Given the description of an element on the screen output the (x, y) to click on. 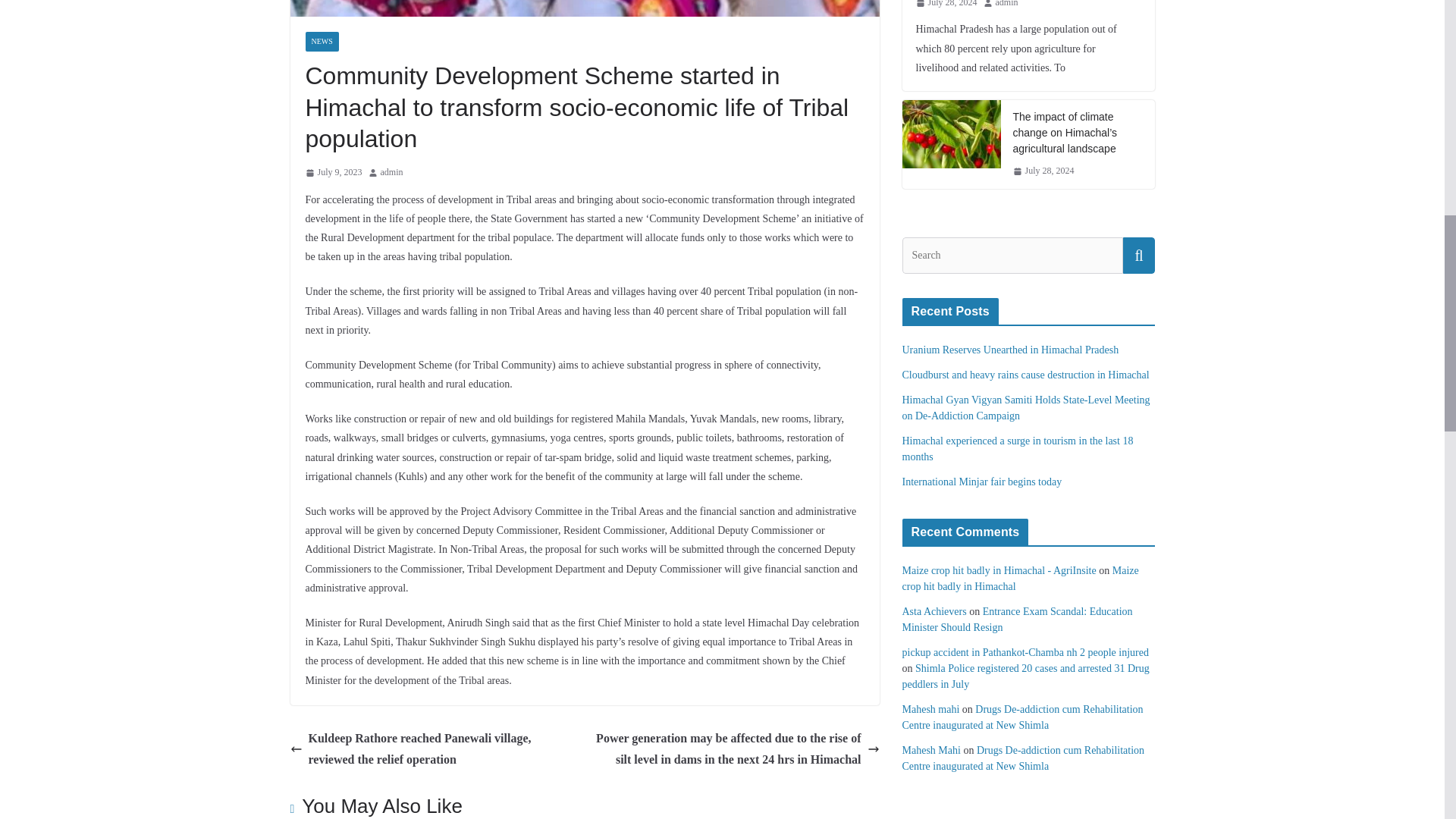
NEWS (320, 41)
admin (391, 172)
July 9, 2023 (332, 172)
12:09 pm (332, 172)
